Given the description of an element on the screen output the (x, y) to click on. 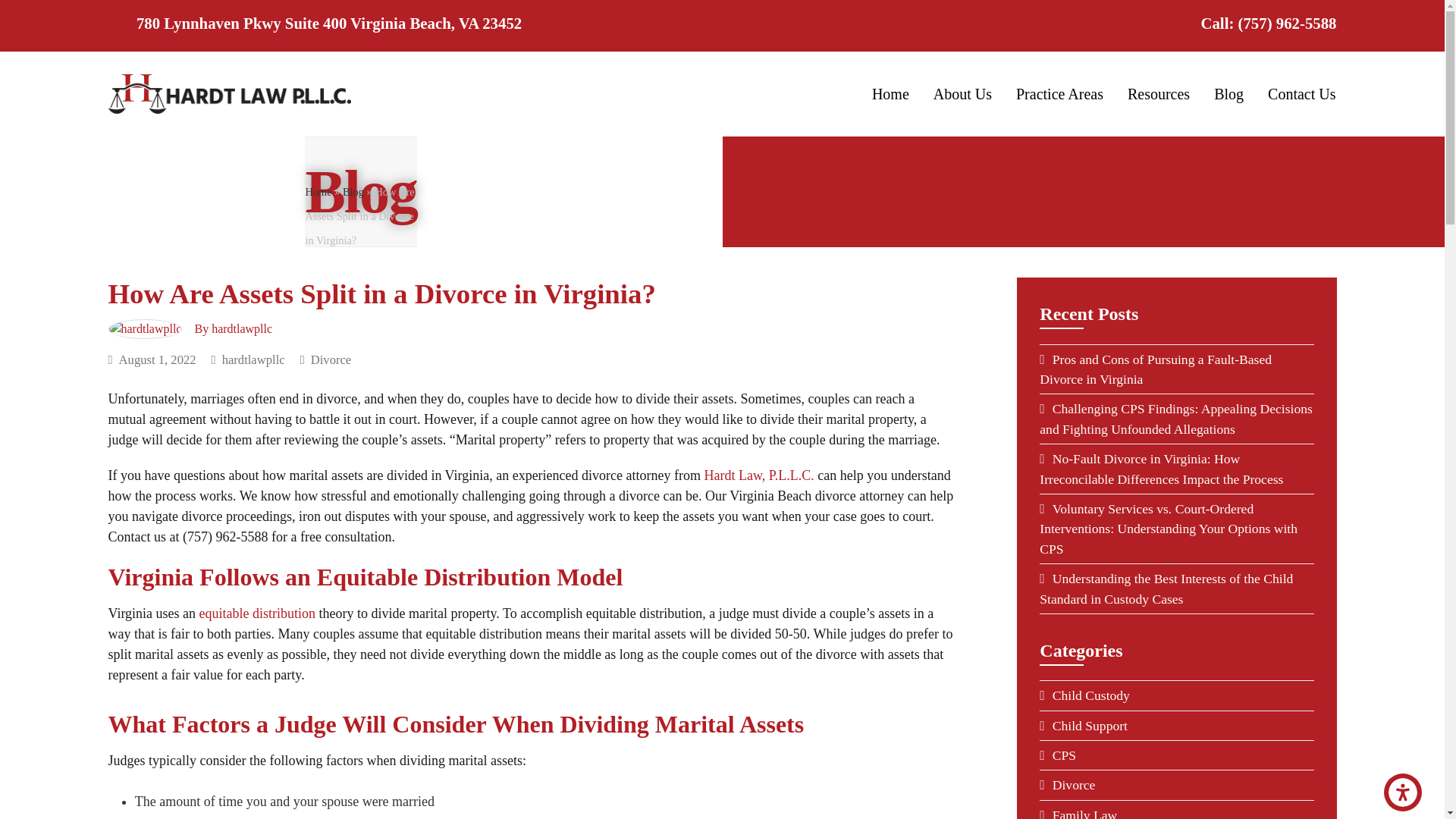
Home (317, 191)
Practice Areas (1059, 93)
Posts by hardtlawpllc (241, 328)
hardtlawpllc (253, 359)
Hardt Law, P.L.L.C. (758, 475)
Divorce (331, 359)
Home (890, 93)
Posts by hardtlawpllc (253, 359)
Divorce (331, 359)
About Us (962, 93)
